Given the description of an element on the screen output the (x, y) to click on. 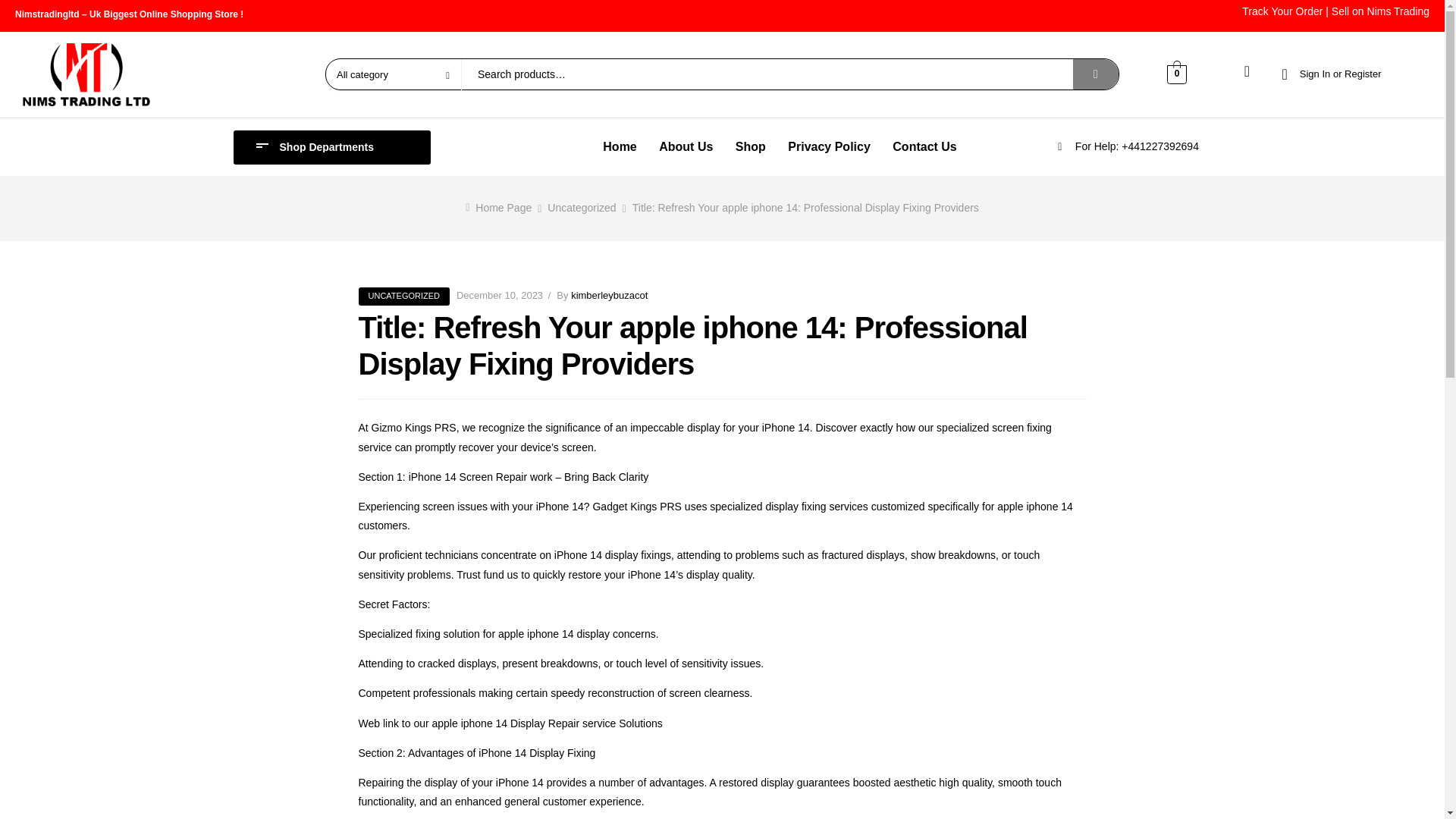
View your shopping cart (1176, 73)
Contact Us (924, 147)
Sign In or Register (1330, 73)
0 (1176, 73)
December 10, 2023 (500, 295)
Uncategorized (581, 207)
Privacy Policy (829, 147)
SEARCH (1095, 73)
kimberleybuzacot (608, 295)
About Us (685, 147)
